Given the description of an element on the screen output the (x, y) to click on. 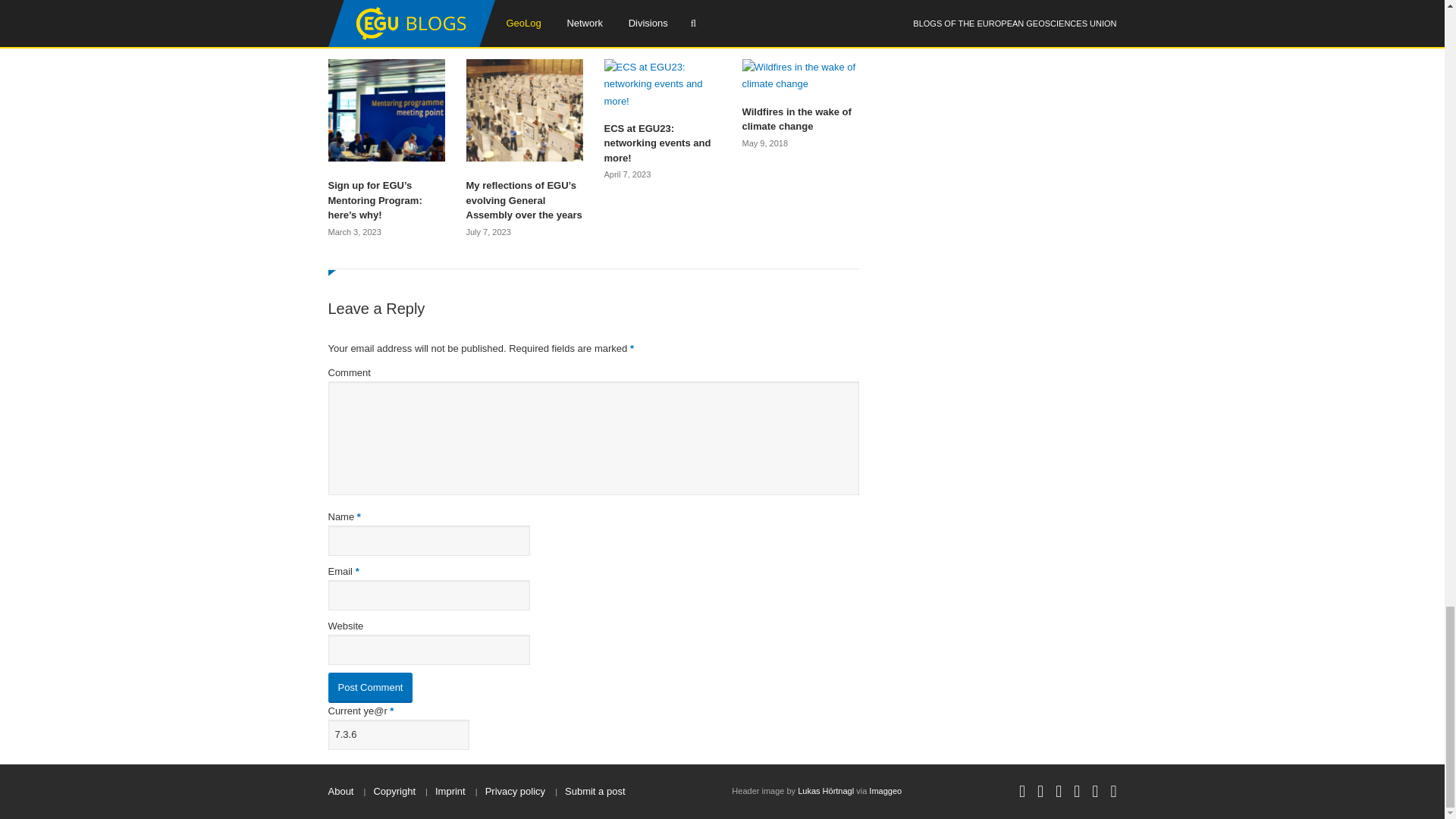
Wildfires in the wake of climate change (800, 119)
ECS at EGU23: networking events and more! (662, 143)
7.3.6 (397, 734)
Post Comment (369, 687)
